Given the description of an element on the screen output the (x, y) to click on. 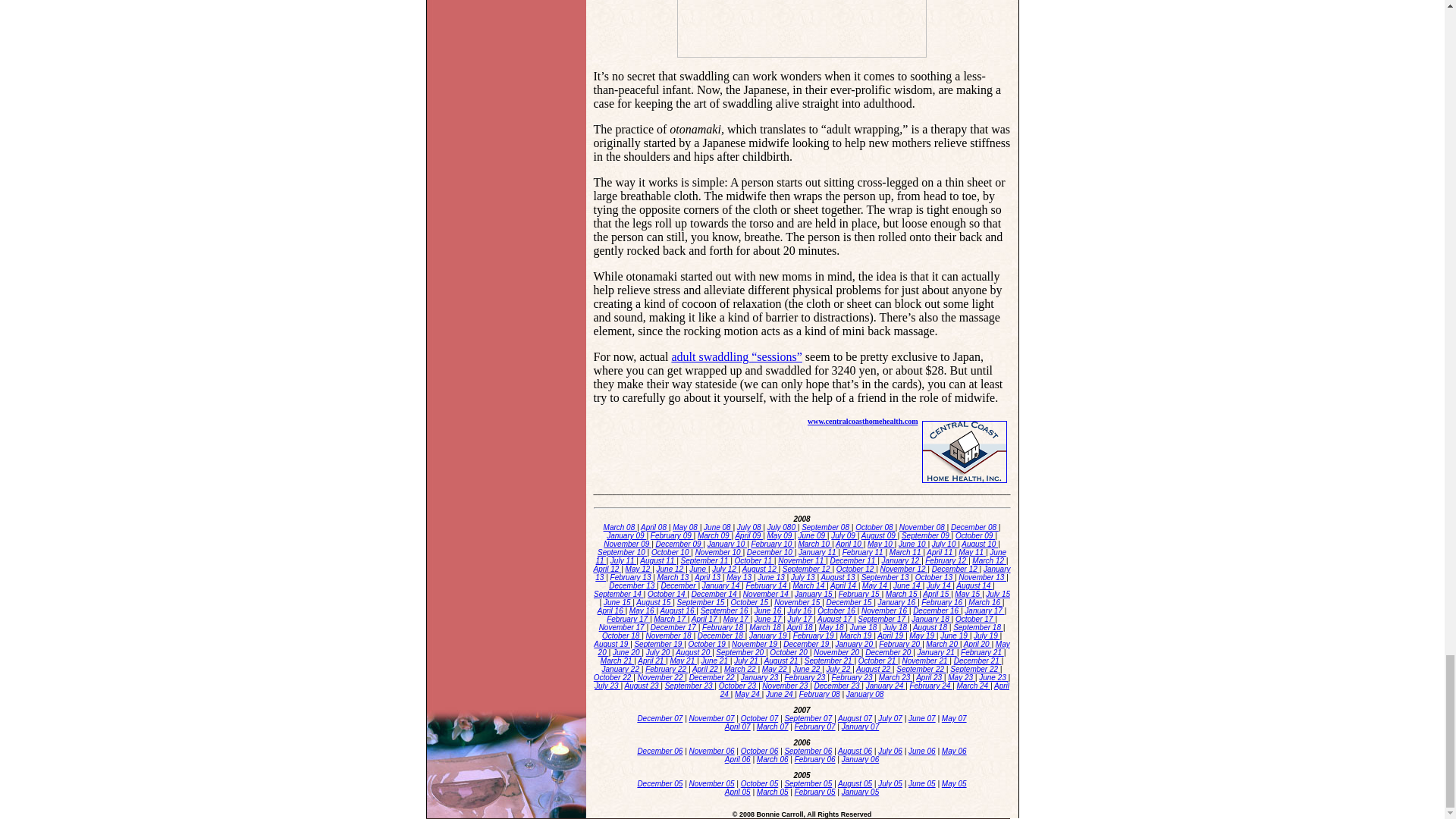
December 08 (974, 527)
April 08 (654, 527)
June 08 (717, 527)
October 08 (875, 527)
May 08 (686, 527)
November 08 (923, 527)
www.centralcoasthomehealth.com (863, 419)
September 08 (826, 527)
March 08 (620, 527)
July 080 (782, 527)
July 08 (749, 527)
